Given the description of an element on the screen output the (x, y) to click on. 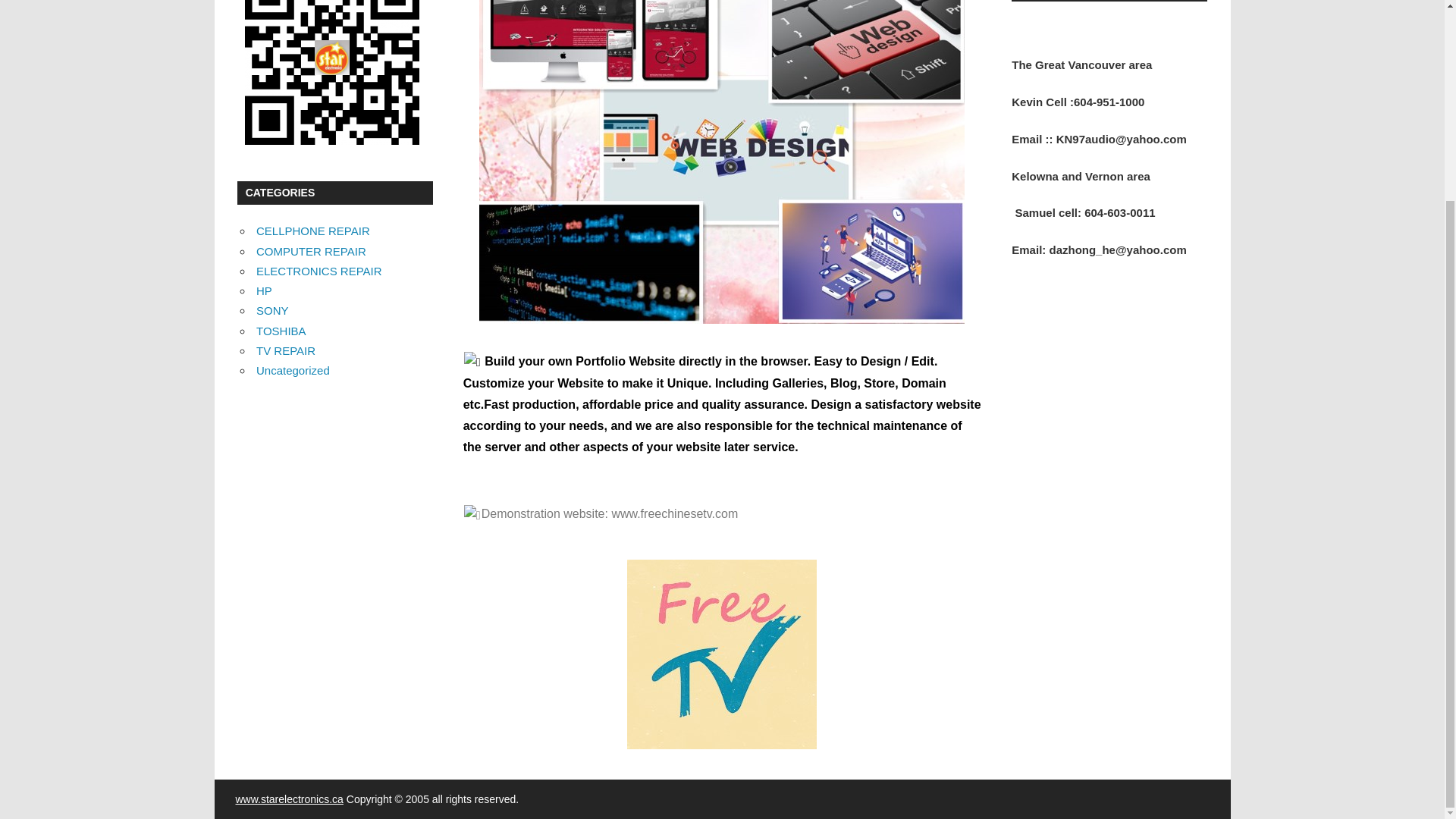
TV REPAIR (285, 350)
COMPUTER REPAIR (311, 250)
TOSHIBA (280, 330)
SONY (272, 309)
www.starelectronics.ca (288, 799)
CELLPHONE REPAIR (312, 230)
HP (264, 290)
ELECTRONICS REPAIR (318, 270)
www.starelectronics.ca (288, 799)
Uncategorized (293, 369)
